Given the description of an element on the screen output the (x, y) to click on. 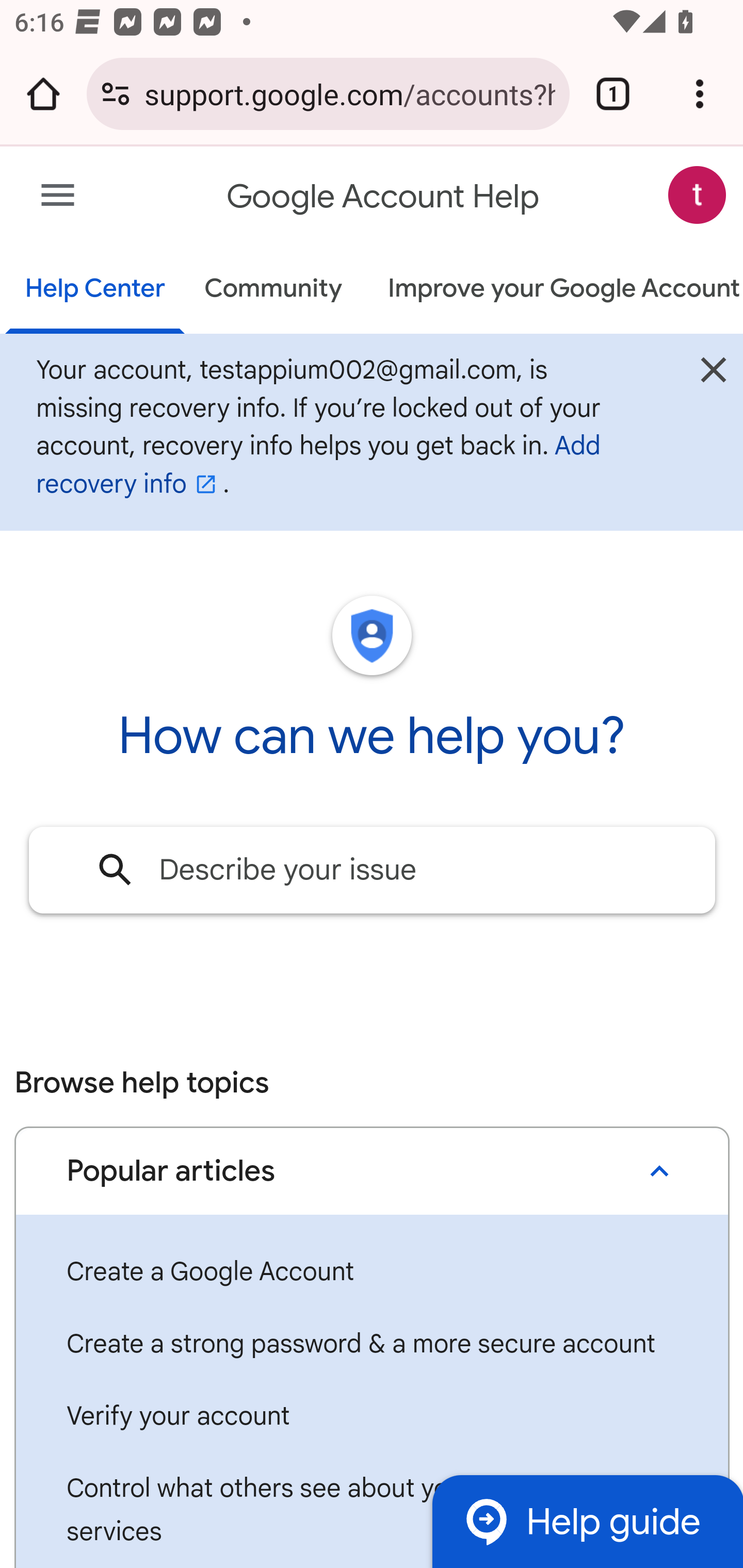
Open the home page (43, 93)
Connection is secure (115, 93)
Switch or close tabs (612, 93)
Customize and control Google Chrome (699, 93)
Main menu (58, 195)
Google Account Help (383, 197)
Help Center (94, 289)
Community (273, 289)
Improve your Google Account (554, 289)
Close (713, 374)
Add recovery info (318, 465)
Search (116, 869)
Popular articles, Expanded list with 11 items (371, 1170)
Create a Google Account (371, 1272)
Create a strong password & a more secure account (371, 1344)
Verify your account (371, 1416)
Help guide (587, 1520)
